Given the description of an element on the screen output the (x, y) to click on. 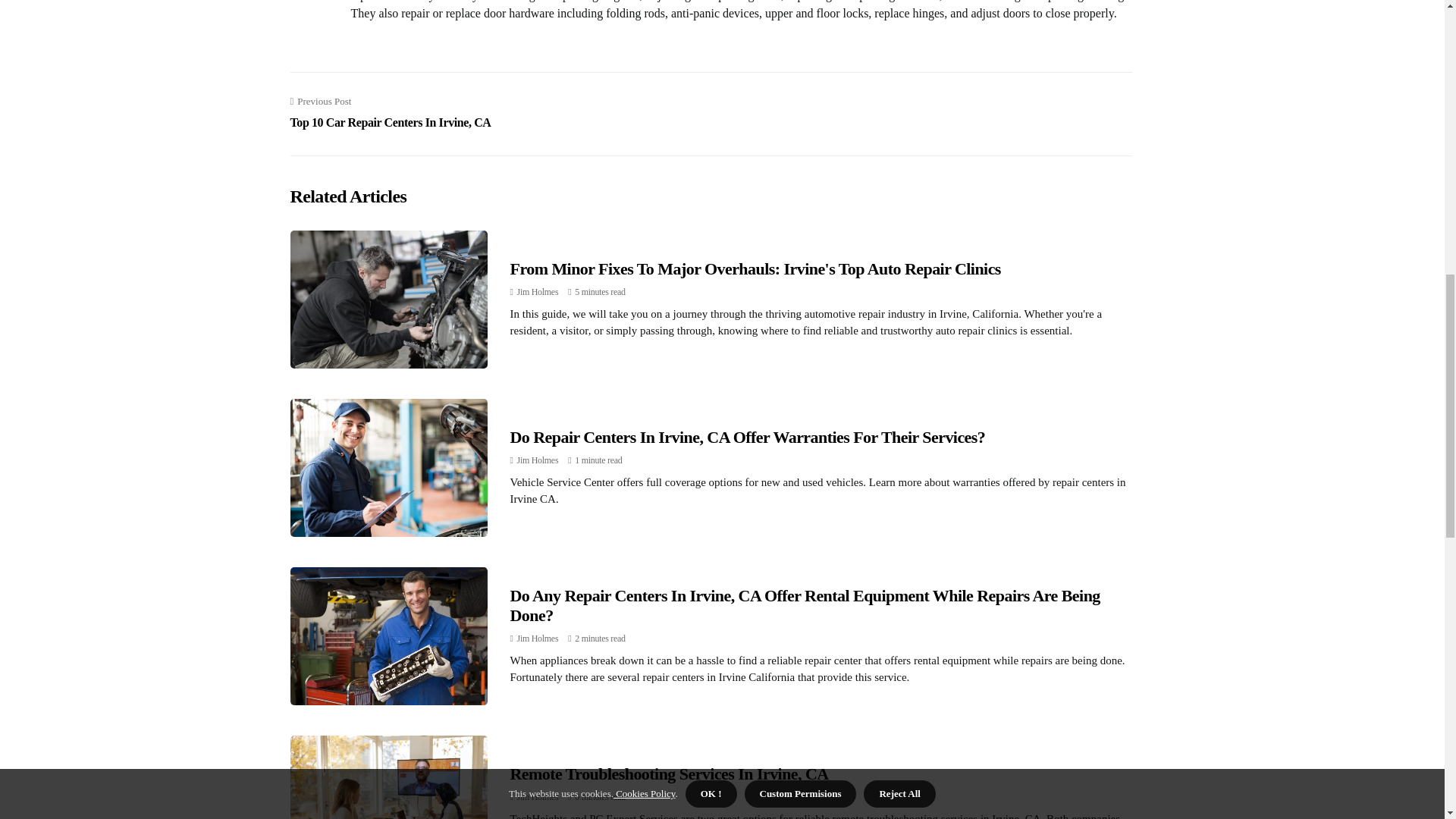
Posts by Jim Holmes (389, 112)
Posts by Jim Holmes (537, 291)
Posts by Jim Holmes (537, 460)
Jim Holmes (537, 638)
Remote Troubleshooting Services In Irvine, CA (537, 291)
Jim Holmes (668, 773)
Jim Holmes (537, 460)
Posts by Jim Holmes (537, 638)
Jim Holmes (537, 796)
